Given the description of an element on the screen output the (x, y) to click on. 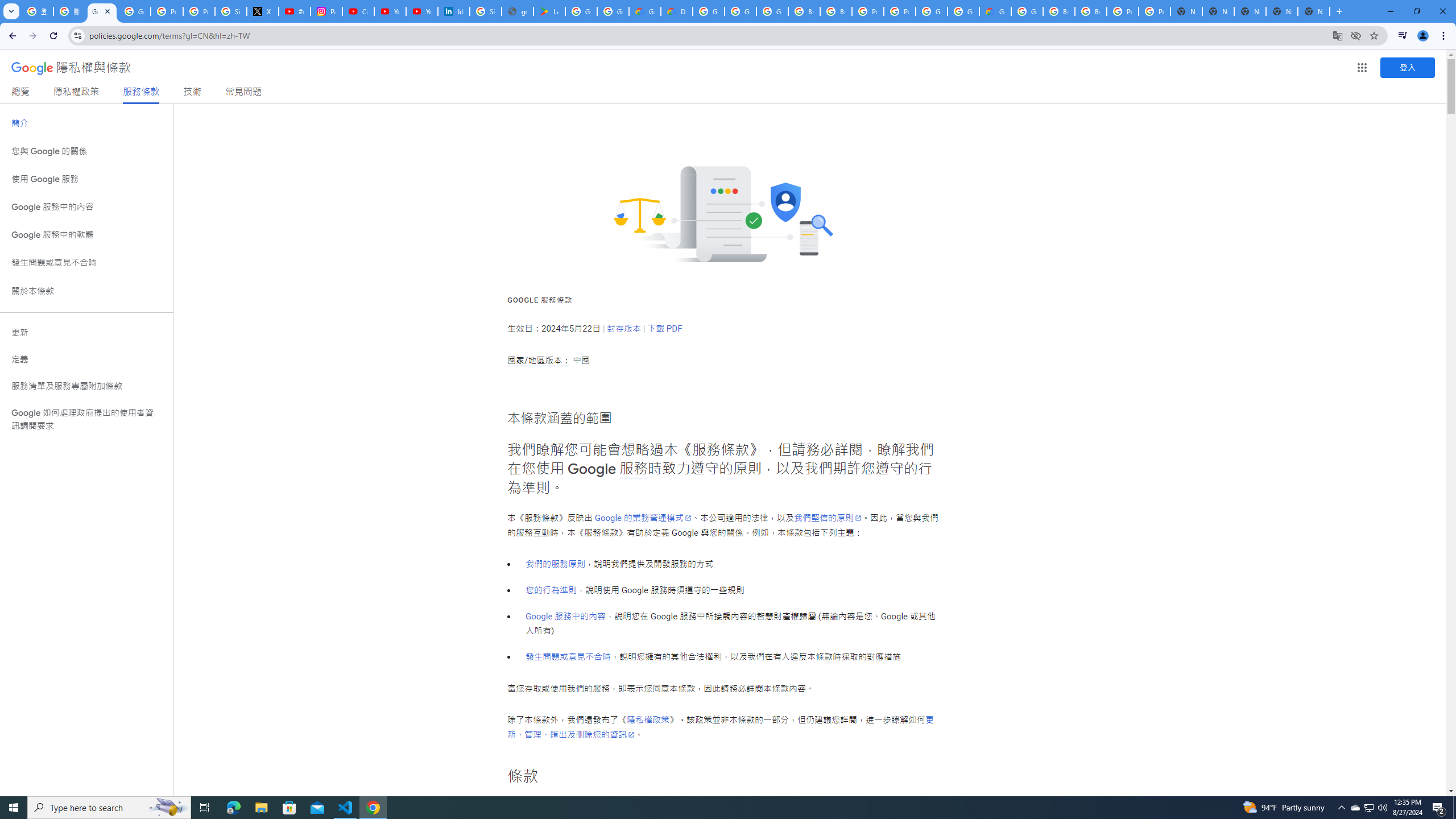
Google Cloud Estimate Summary (995, 11)
Government | Google Cloud (644, 11)
